Given the description of an element on the screen output the (x, y) to click on. 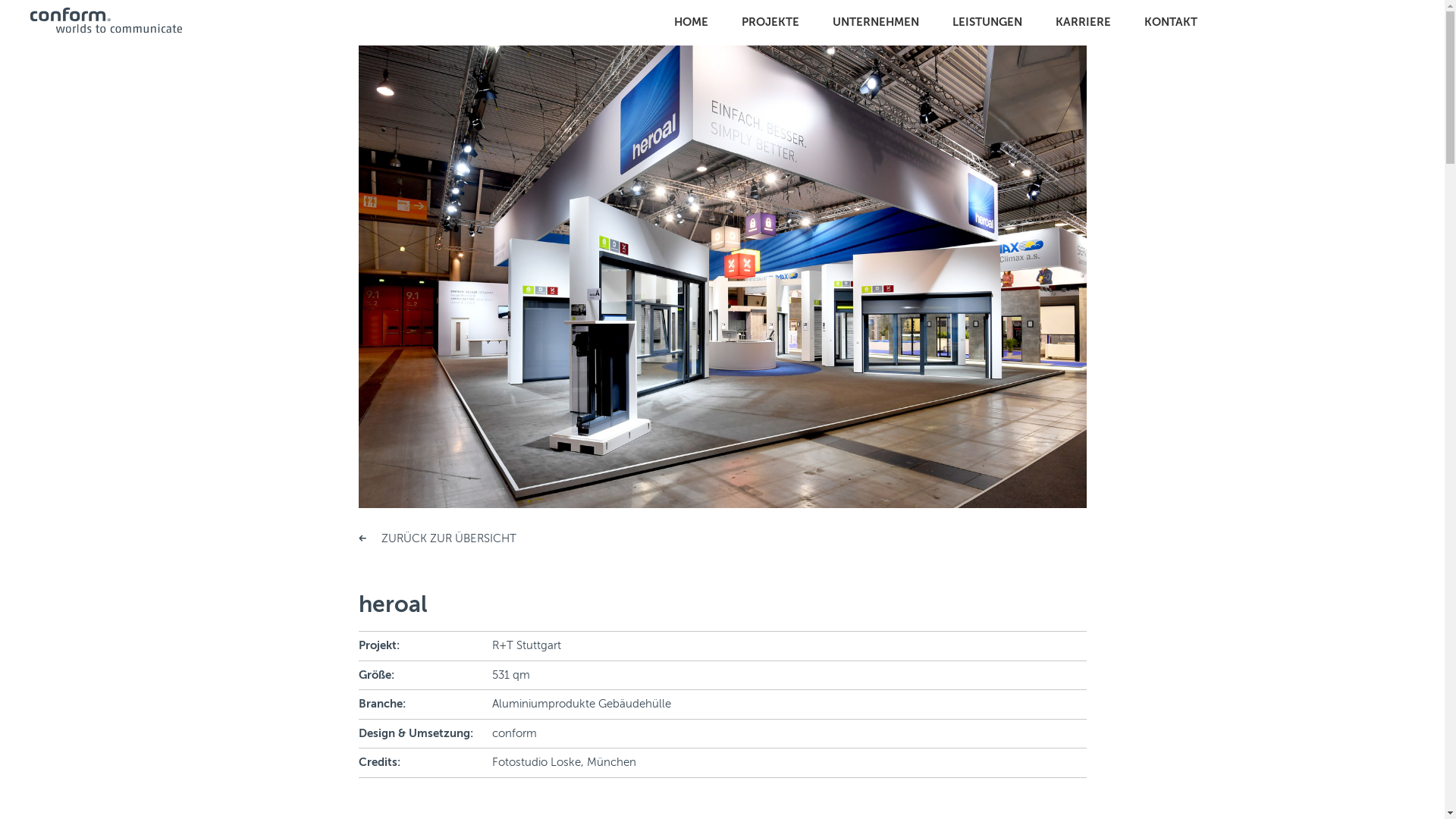
PROJEKTE Element type: text (770, 22)
HOME Element type: text (691, 22)
LEISTUNGEN Element type: text (987, 22)
KONTAKT Element type: text (1170, 22)
KARRIERE Element type: text (1082, 22)
UNTERNEHMEN Element type: text (875, 22)
